Given the description of an element on the screen output the (x, y) to click on. 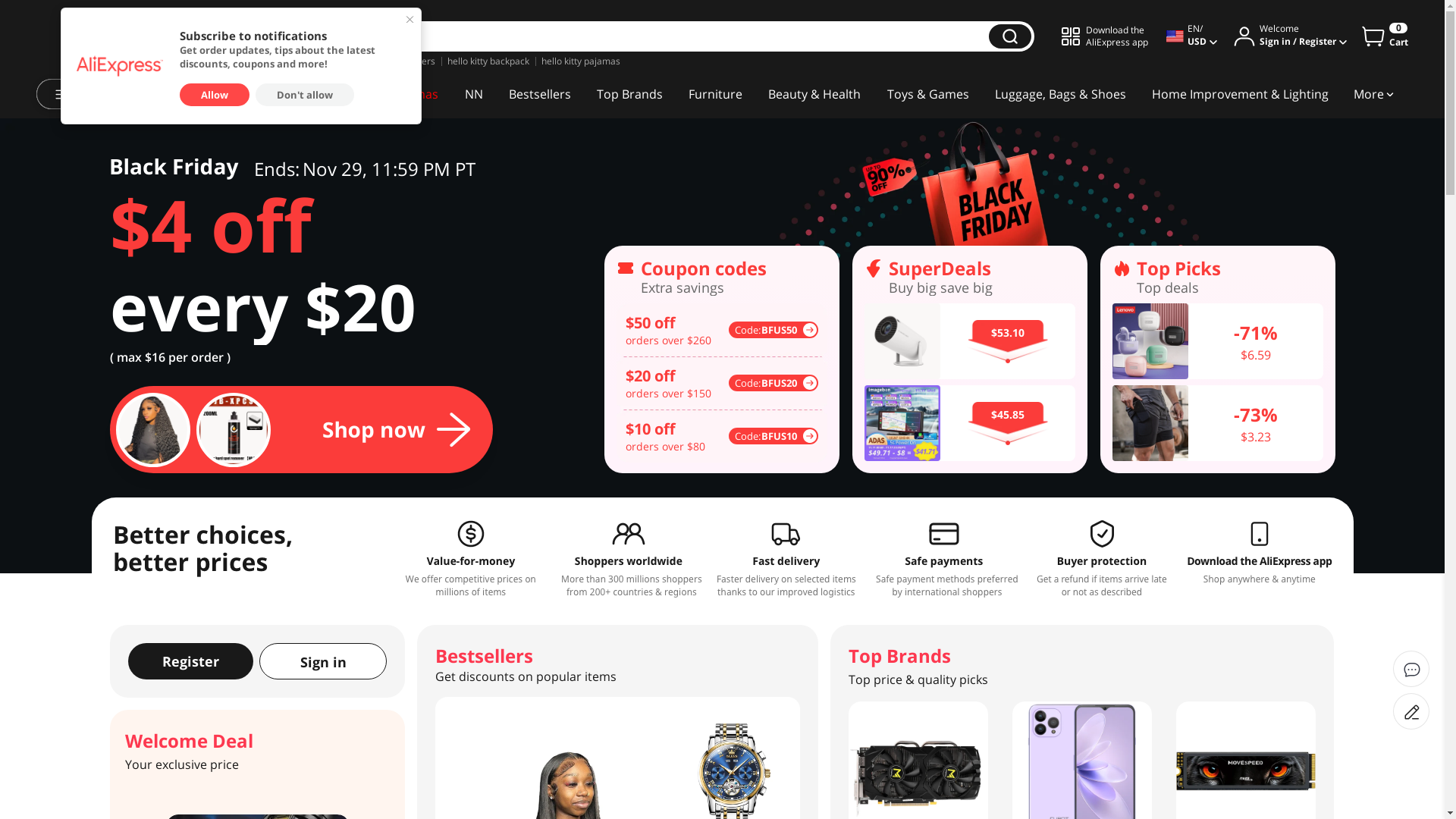
-55%
$27.45 Element type: text (969, 341)
desk ornament Element type: text (268, 60)
0
Cart Element type: text (1384, 36)
-71%
$6.59 Element type: text (720, 341)
Home Improvement & Lighting Element type: text (1240, 93)
cool lighters Element type: text (409, 60)
hello kitty backpack Element type: text (488, 60)
Furniture Element type: text (715, 93)
Merry Christmas Element type: text (390, 93)
-62%
$26.59 Element type: text (969, 423)
Bestsellers Element type: text (539, 93)
Top Picks
Top deals
-71%
$6.59
-73%
$3.23 Element type: text (715, 359)
Luggage, Bags & Shoes Element type: text (1060, 93)
NN Element type: text (473, 93)
shark slippers Element type: text (341, 60)
Black Friday Element type: text (282, 93)
-73%
$3.23 Element type: text (720, 423)
hello kitty pajamas Element type: text (580, 60)
Toys & Games Element type: text (927, 93)
Beauty & Health Element type: text (814, 93)
Top Brands Element type: text (629, 93)
